Given the description of an element on the screen output the (x, y) to click on. 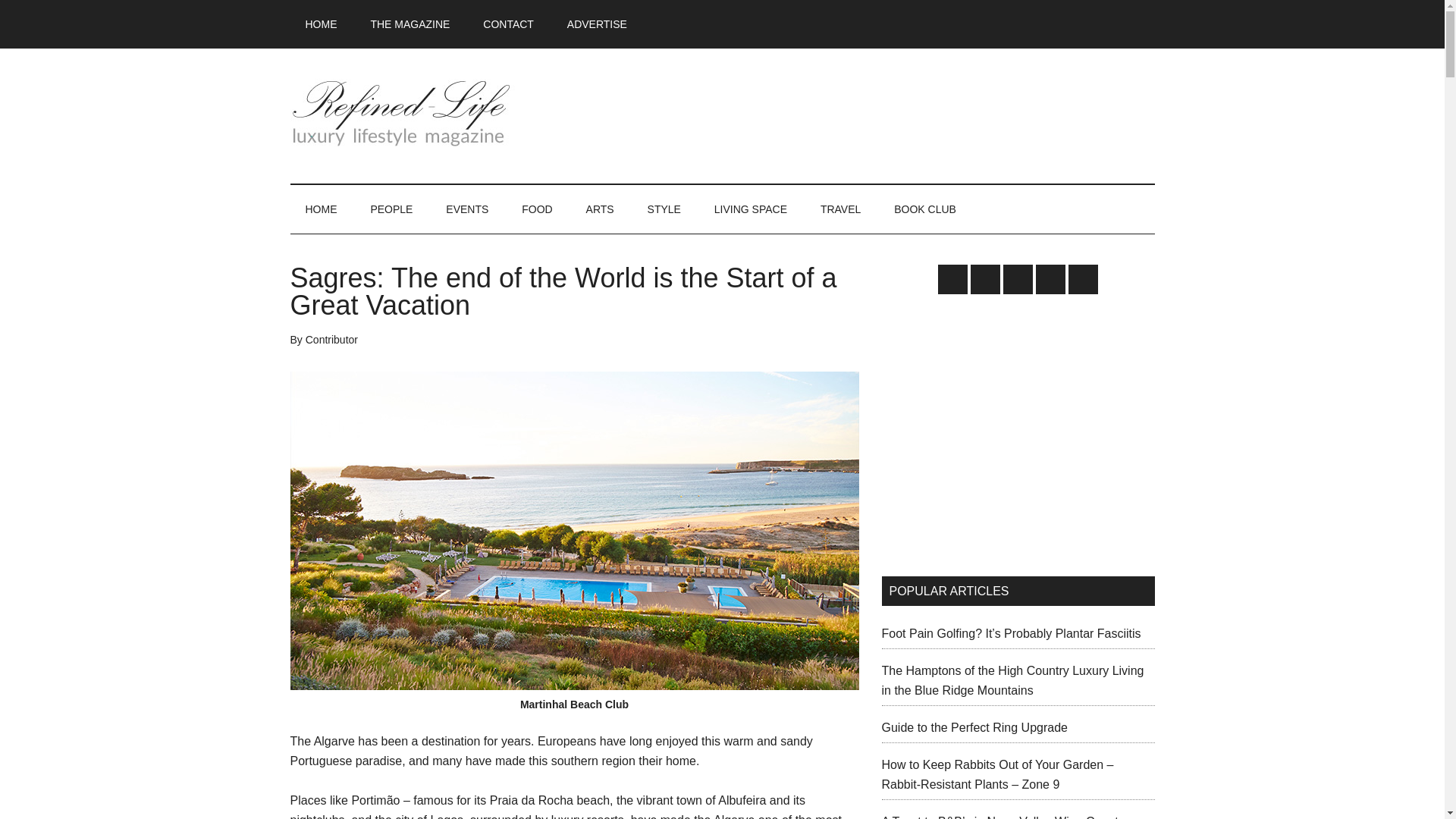
FOOD (536, 209)
ARTS (599, 209)
Advertisement (1007, 433)
TRAVEL (840, 209)
ADVERTISE (596, 24)
PEOPLE (391, 209)
STYLE (663, 209)
LIVING SPACE (750, 209)
Luxury Lifestyle Magazine Refined-Life (433, 112)
HOME (320, 209)
